Given the description of an element on the screen output the (x, y) to click on. 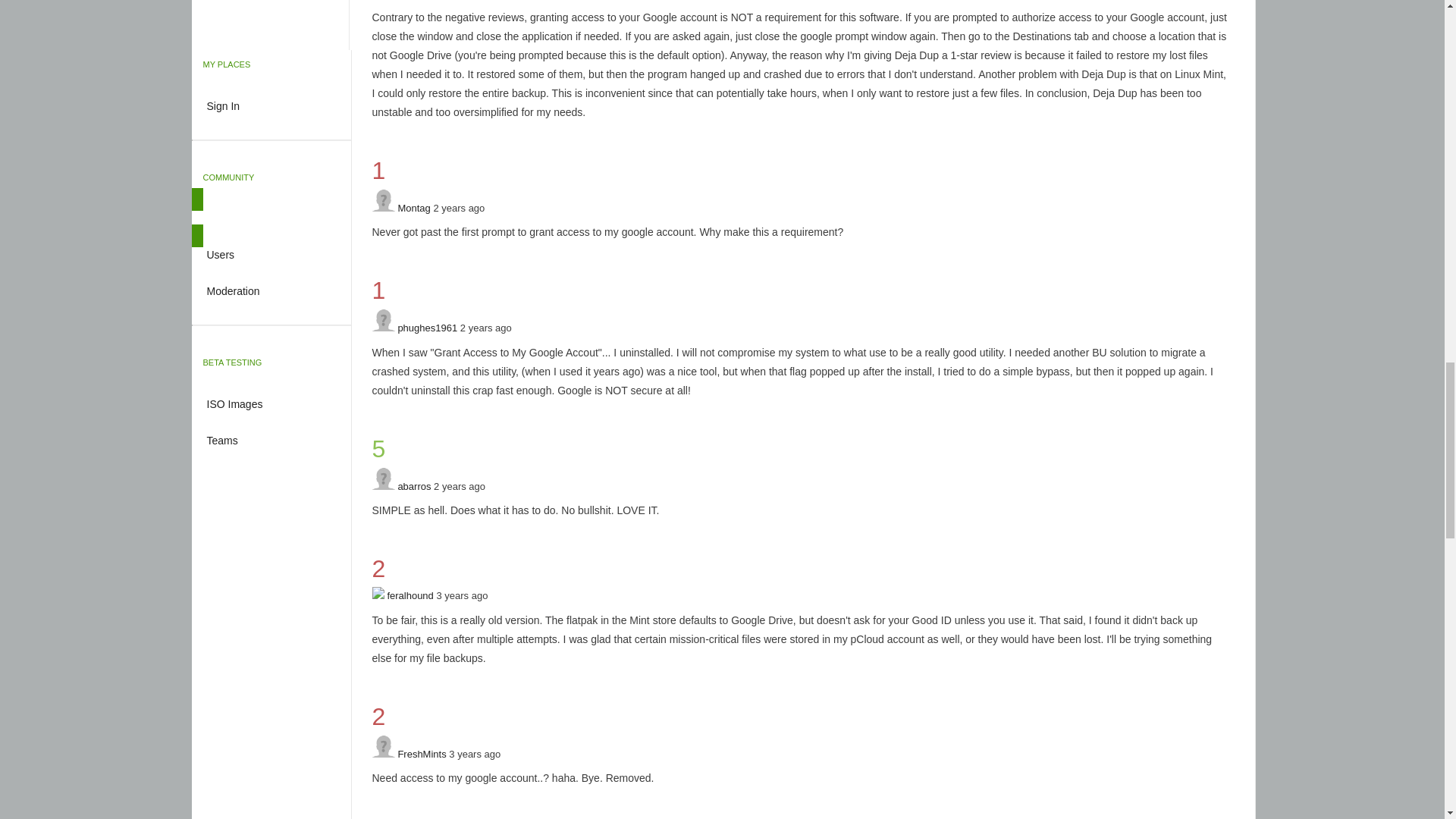
phughes1961 (427, 327)
Montag (413, 206)
abarros (413, 486)
feralhound (409, 595)
